Given the description of an element on the screen output the (x, y) to click on. 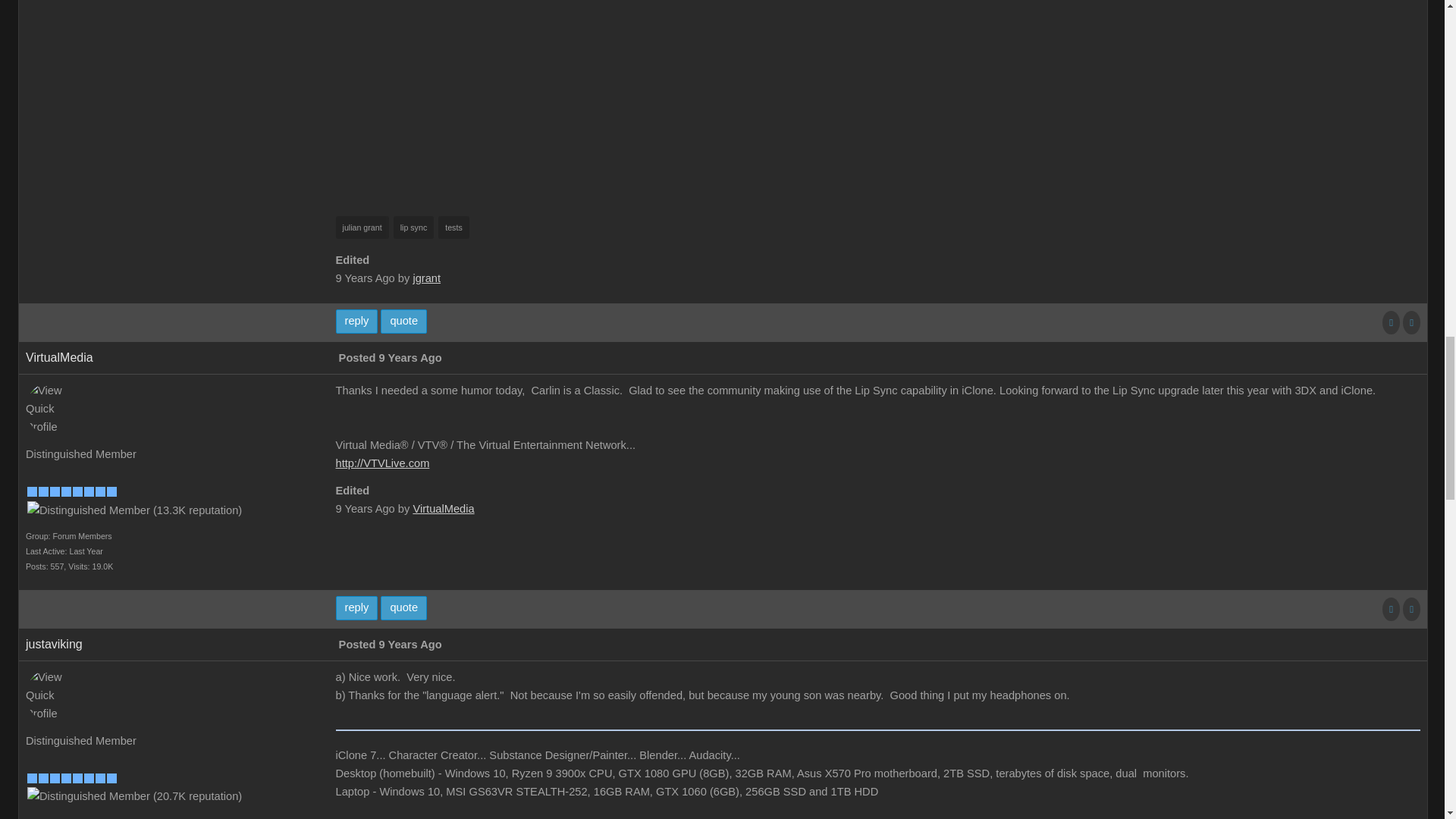
jgrant (426, 277)
quote (403, 321)
reply (357, 321)
lip sync (413, 227)
julian grant (362, 227)
tests (453, 227)
